Given the description of an element on the screen output the (x, y) to click on. 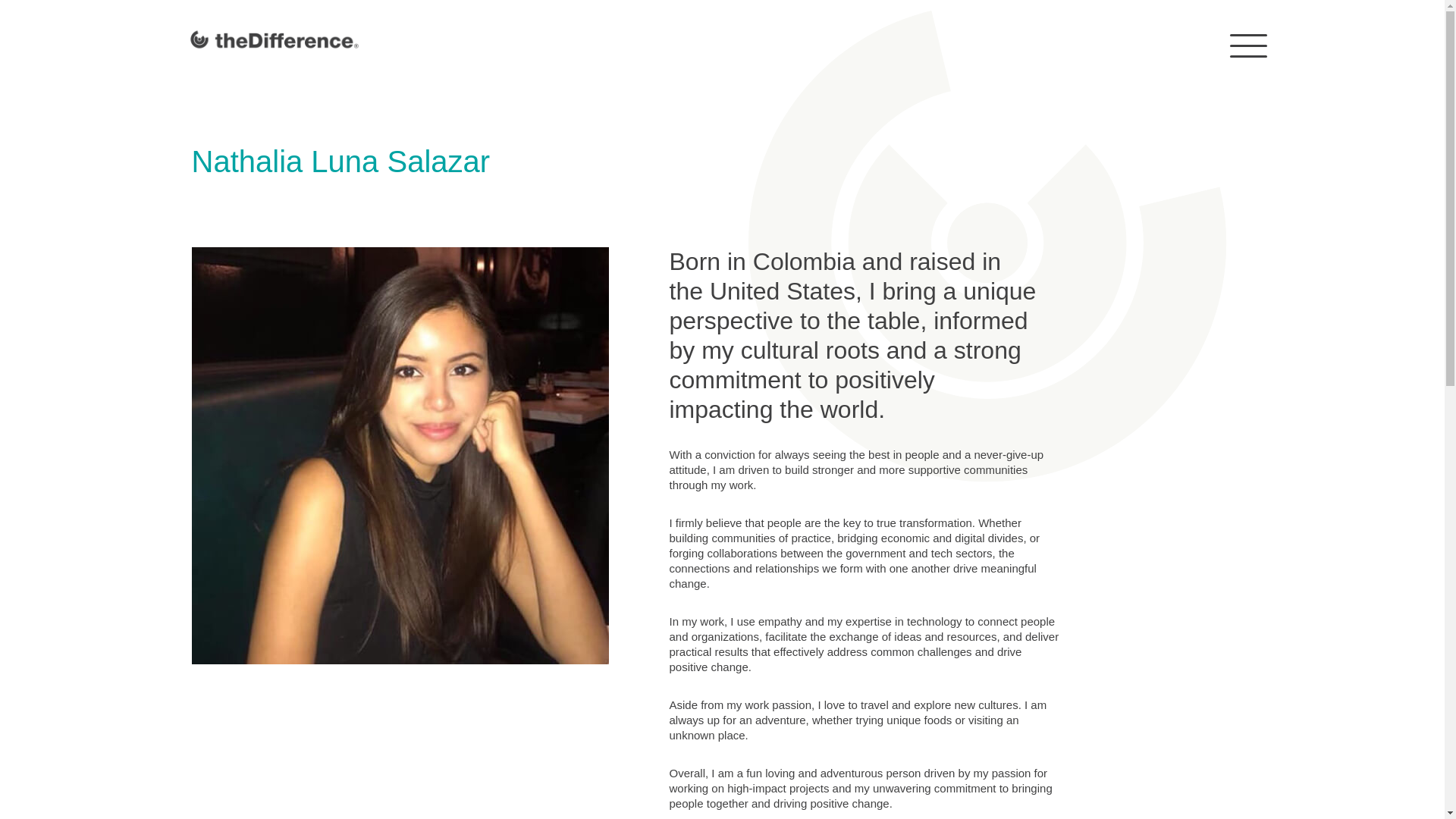
Skip to content (11, 31)
